Given the description of an element on the screen output the (x, y) to click on. 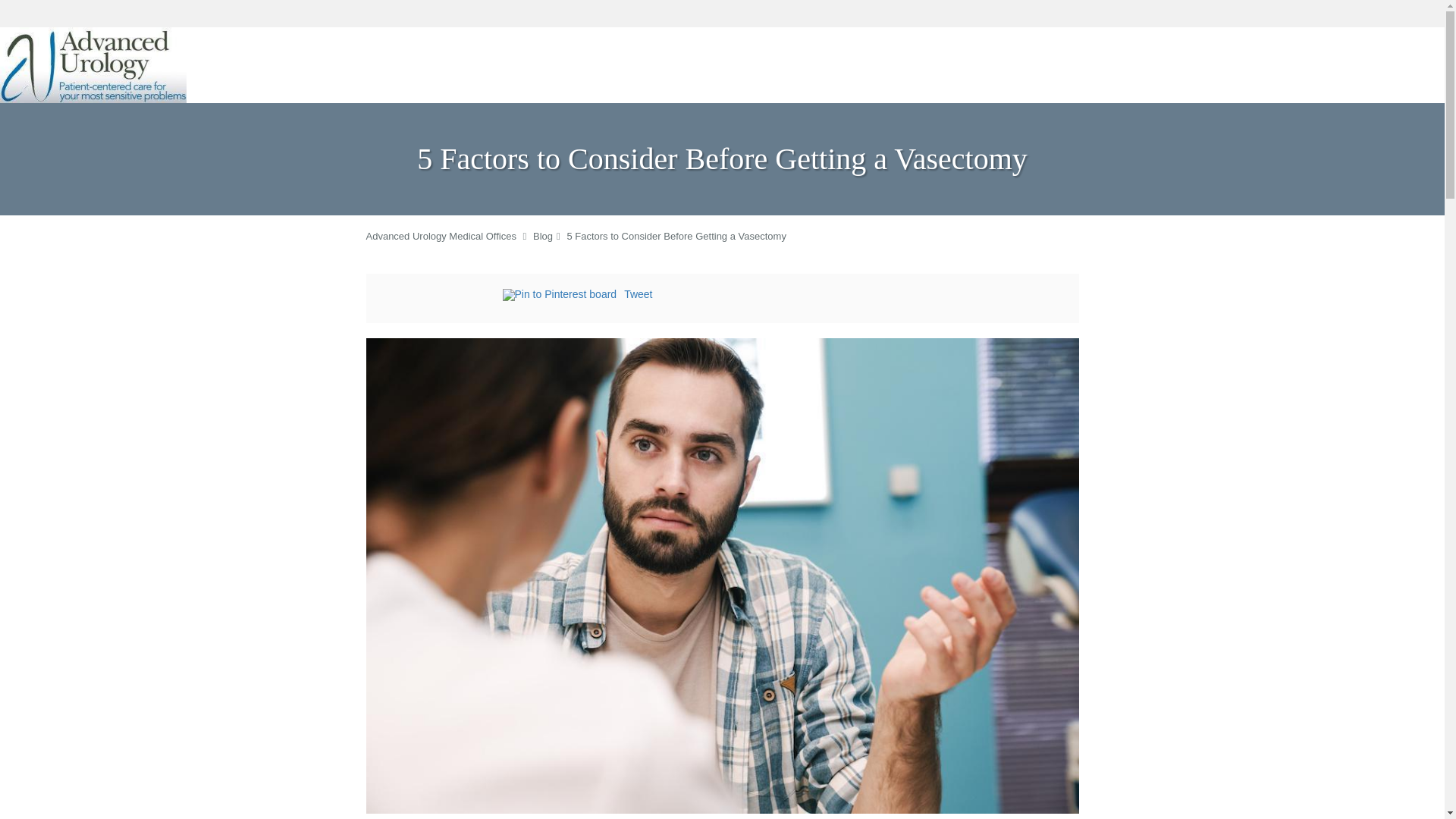
Skip to main content (74, 34)
Facebook social button (441, 296)
